Given the description of an element on the screen output the (x, y) to click on. 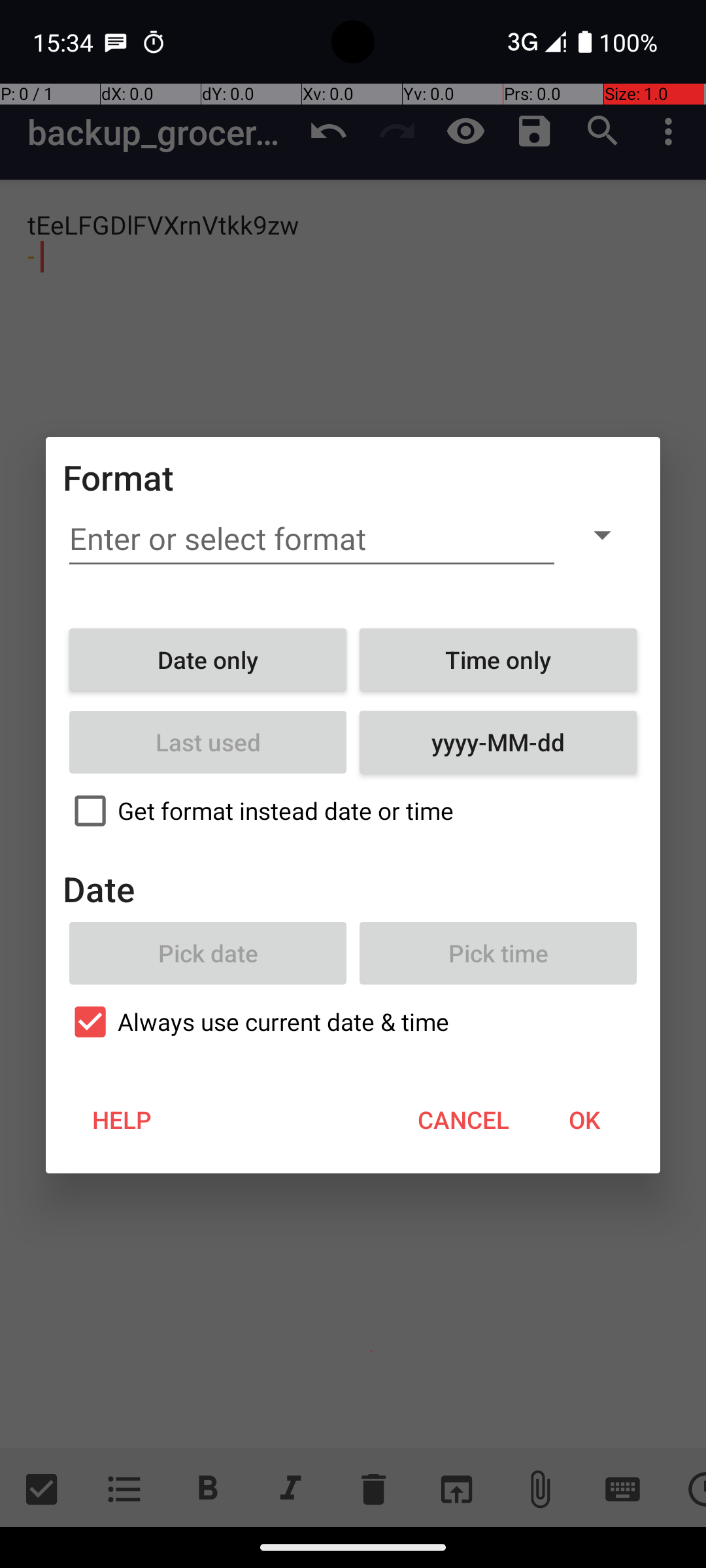
Format Element type: android.widget.TextView (118, 477)
Enter or select format Element type: android.widget.EditText (311, 538)
Choose format Element type: android.widget.TextView (601, 534)
Date only Element type: android.widget.Button (207, 659)
Time only Element type: android.widget.Button (498, 659)
Last used Element type: android.widget.Button (207, 742)
yyyy-MM-dd Element type: android.widget.Button (498, 742)
Get format instead date or time Element type: android.widget.CheckBox (352, 810)
Pick date Element type: android.widget.Button (207, 953)
Pick time Element type: android.widget.Button (498, 953)
Always use current date & time Element type: android.widget.CheckBox (352, 1021)
HELP Element type: android.widget.Button (121, 1119)
